Given the description of an element on the screen output the (x, y) to click on. 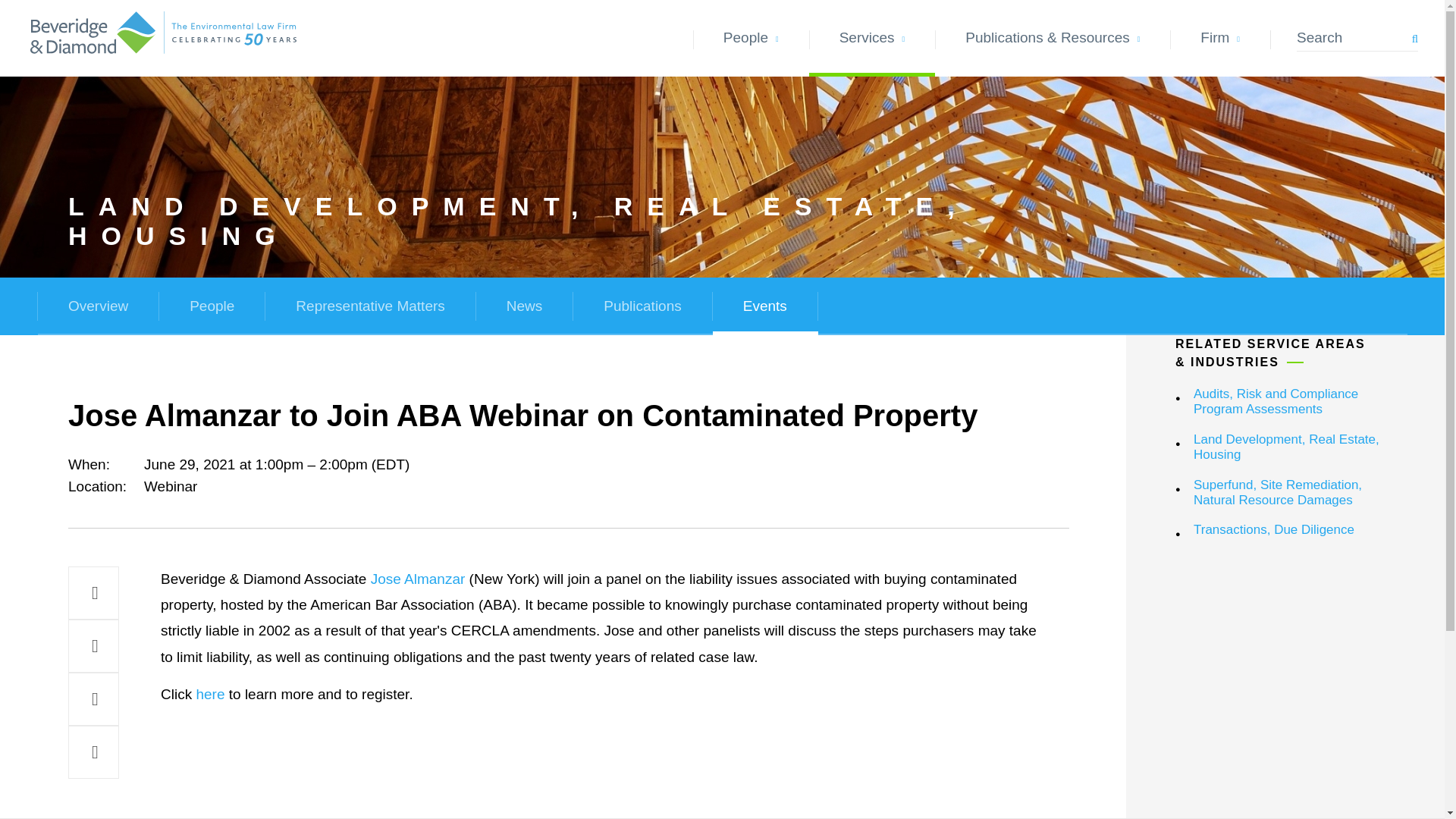
Services (872, 38)
Firm (1219, 38)
Publications (641, 306)
News (524, 306)
Type a search keyword (1357, 38)
People (211, 306)
Representative Matters (370, 306)
Events (764, 306)
LAND DEVELOPMENT, REAL ESTATE, HOUSING (560, 220)
People (751, 38)
